Given the description of an element on the screen output the (x, y) to click on. 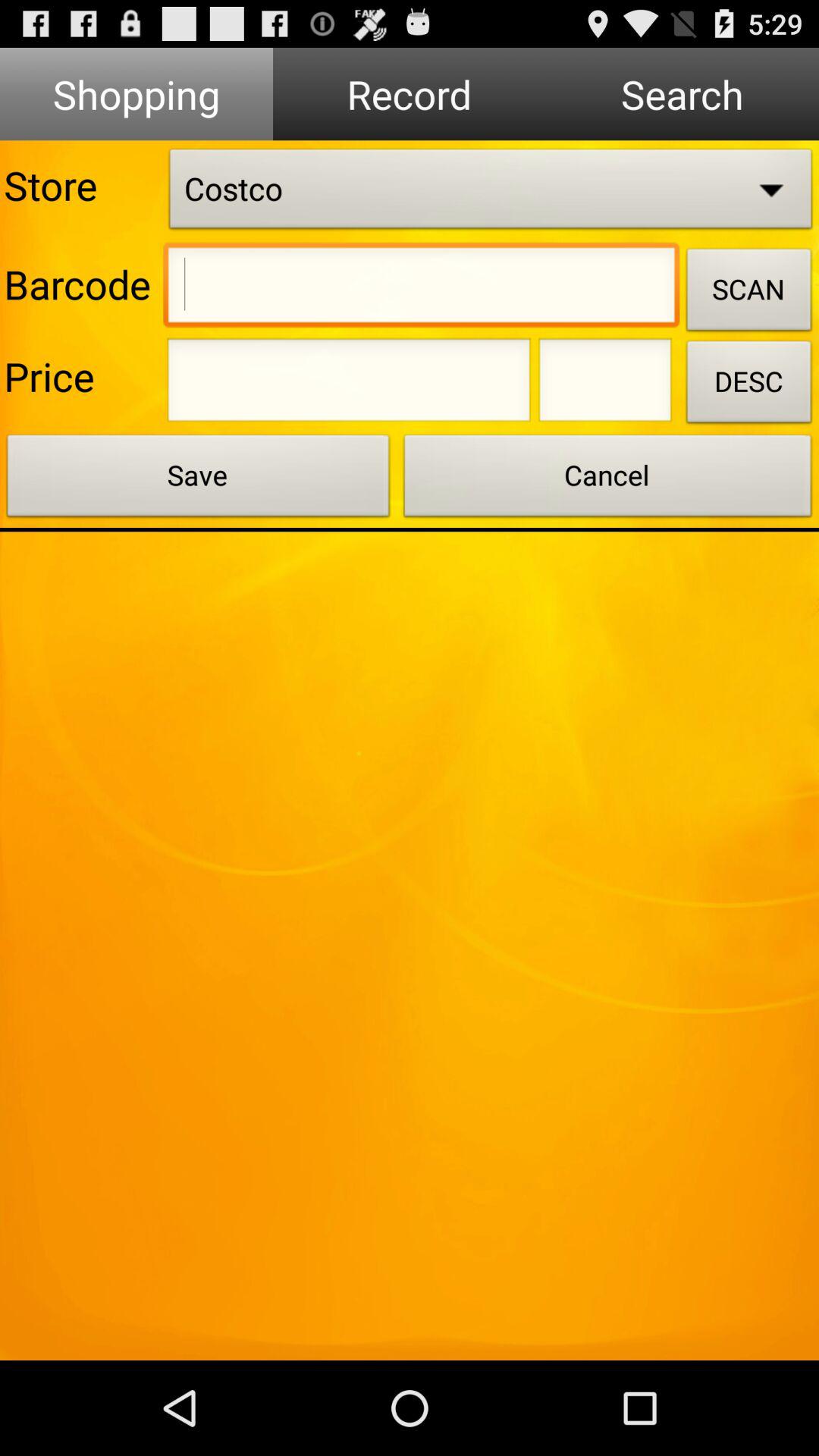
chose price option (348, 384)
